Given the description of an element on the screen output the (x, y) to click on. 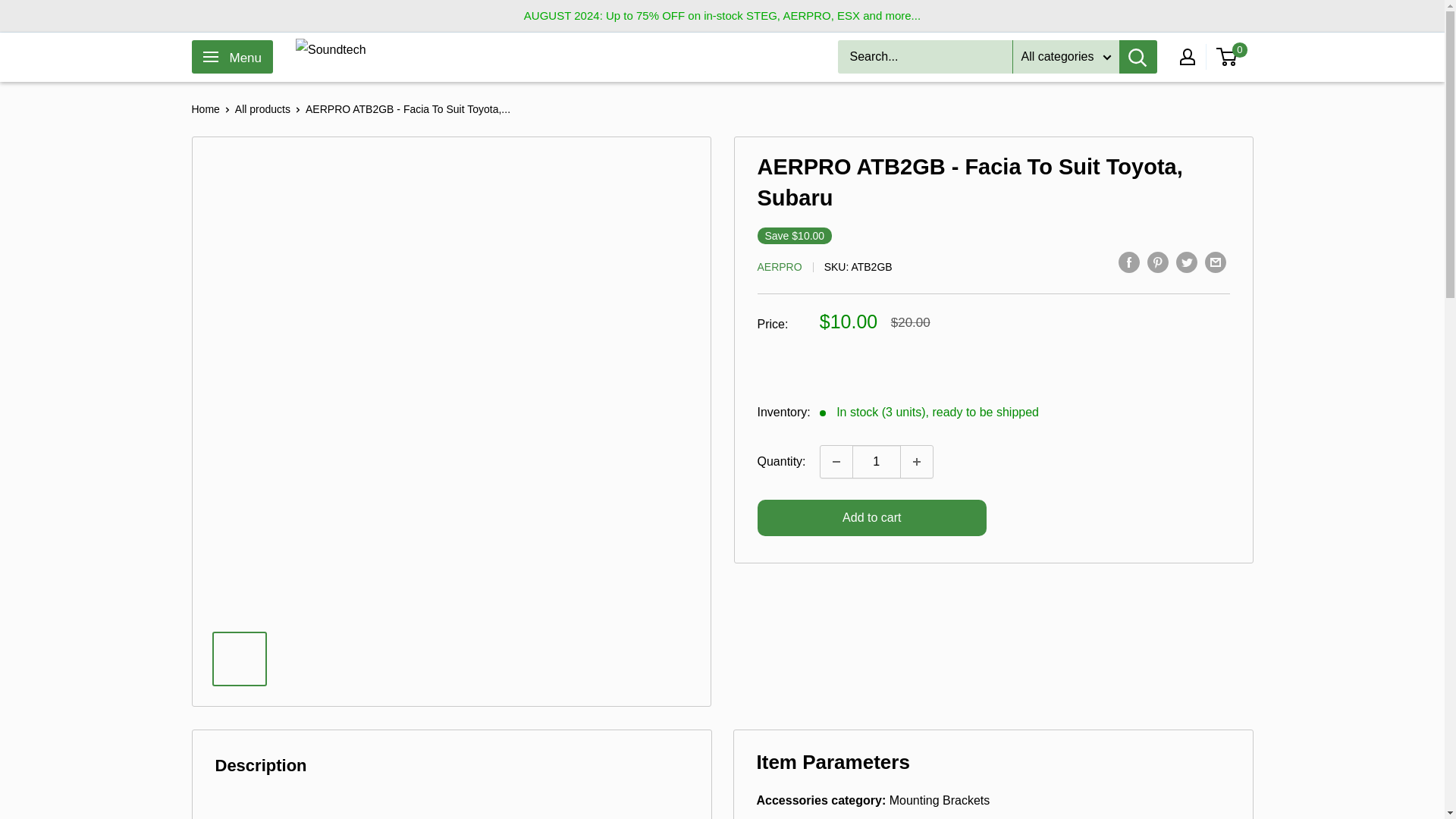
Increase quantity by 1 (917, 461)
1 (876, 461)
Decrease quantity by 1 (836, 461)
